Given the description of an element on the screen output the (x, y) to click on. 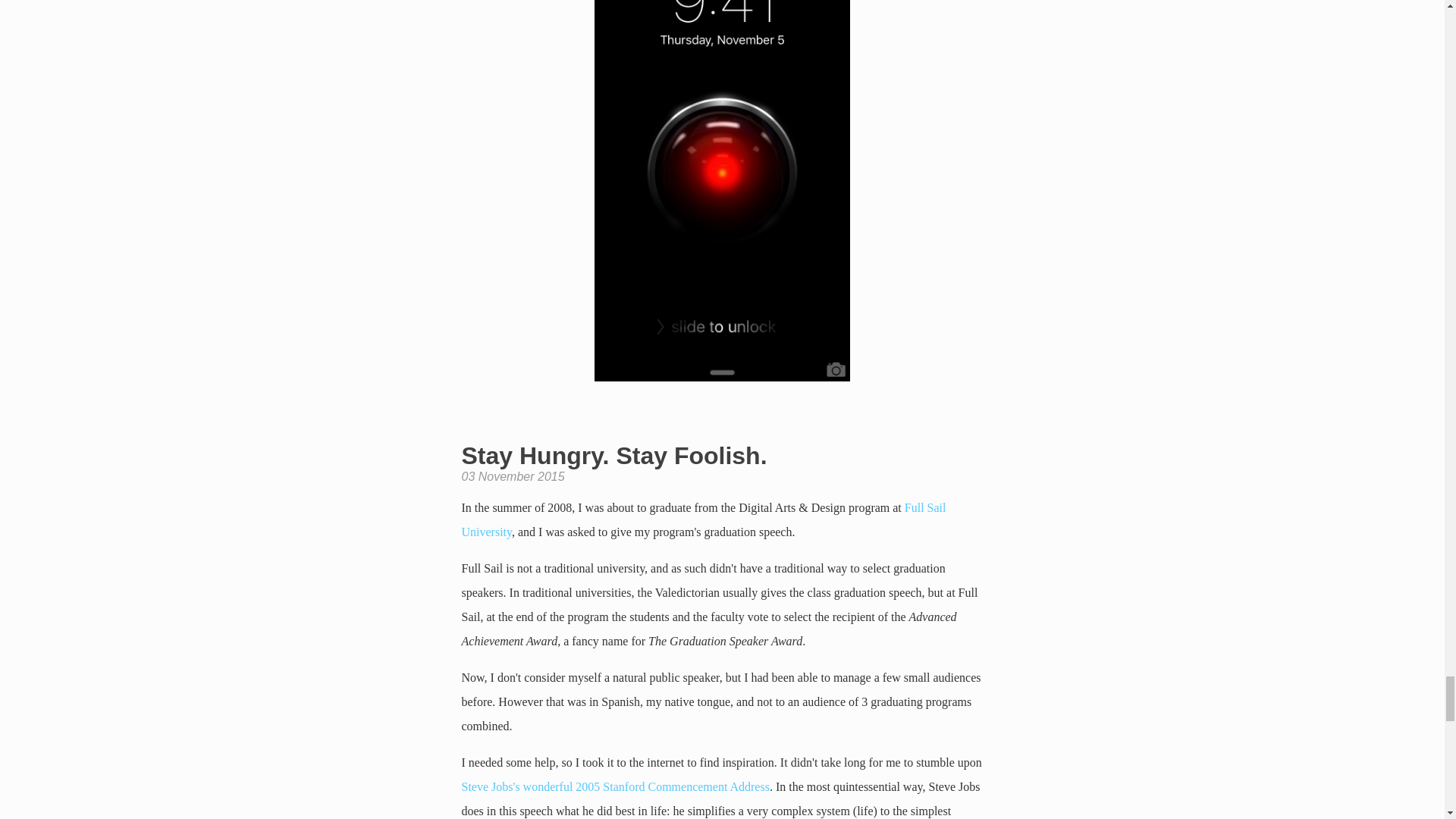
Stay Hungry. Stay Foolish. (614, 455)
Steve Jobs's wonderful 2005 Stanford Commencement Address (614, 786)
Full Sail University (702, 519)
